Given the description of an element on the screen output the (x, y) to click on. 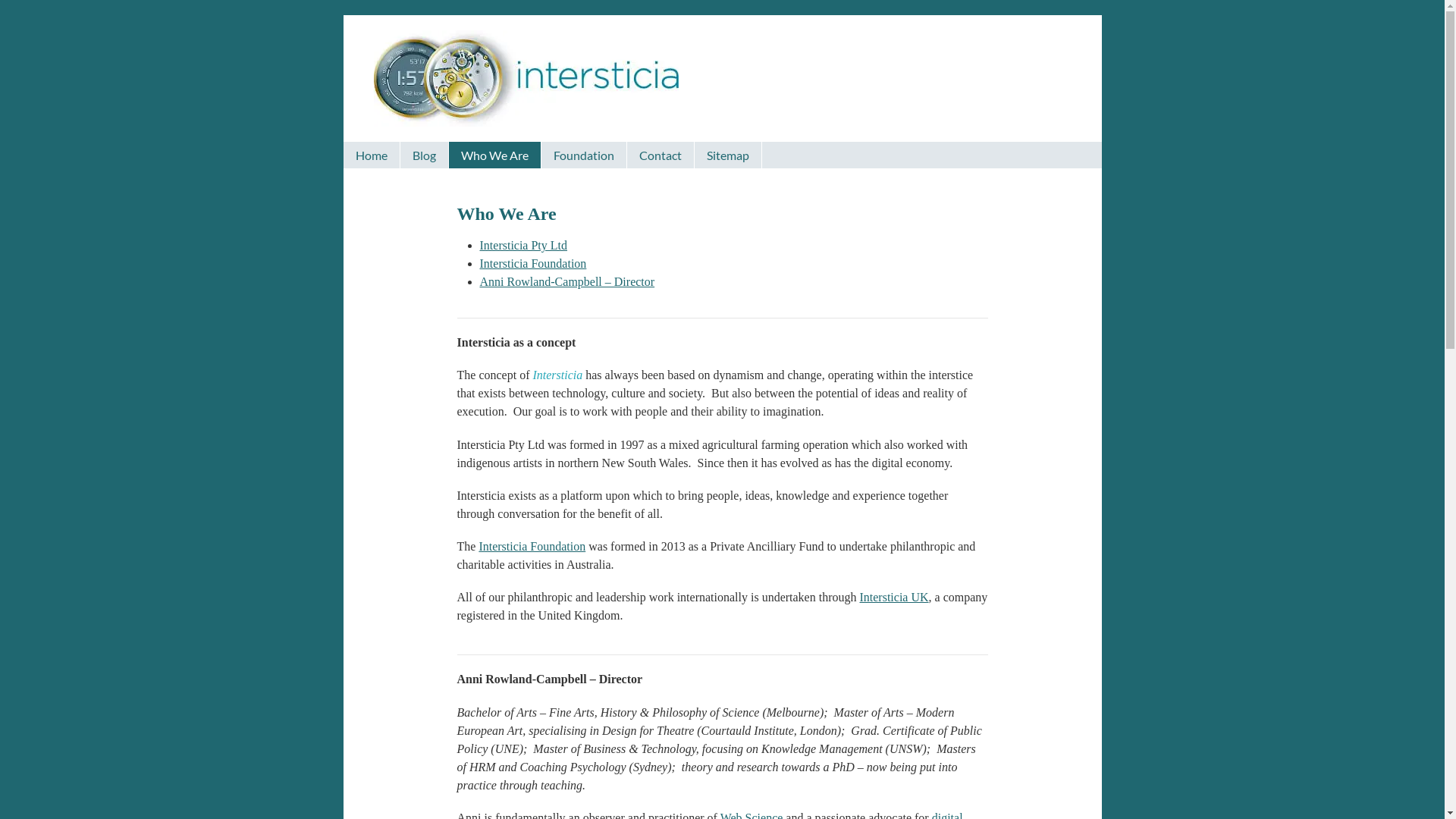
Intersticia Pty Ltd Element type: text (523, 244)
Sitemap Element type: text (727, 154)
Who We Are Element type: text (494, 154)
Intersticia Foundation Element type: text (532, 263)
Home Element type: text (370, 154)
Blog Element type: text (424, 154)
Intersticia Foundation Element type: text (531, 545)
Contact Element type: text (659, 154)
Intersticia UK Element type: text (893, 596)
Foundation Element type: text (583, 154)
